Given the description of an element on the screen output the (x, y) to click on. 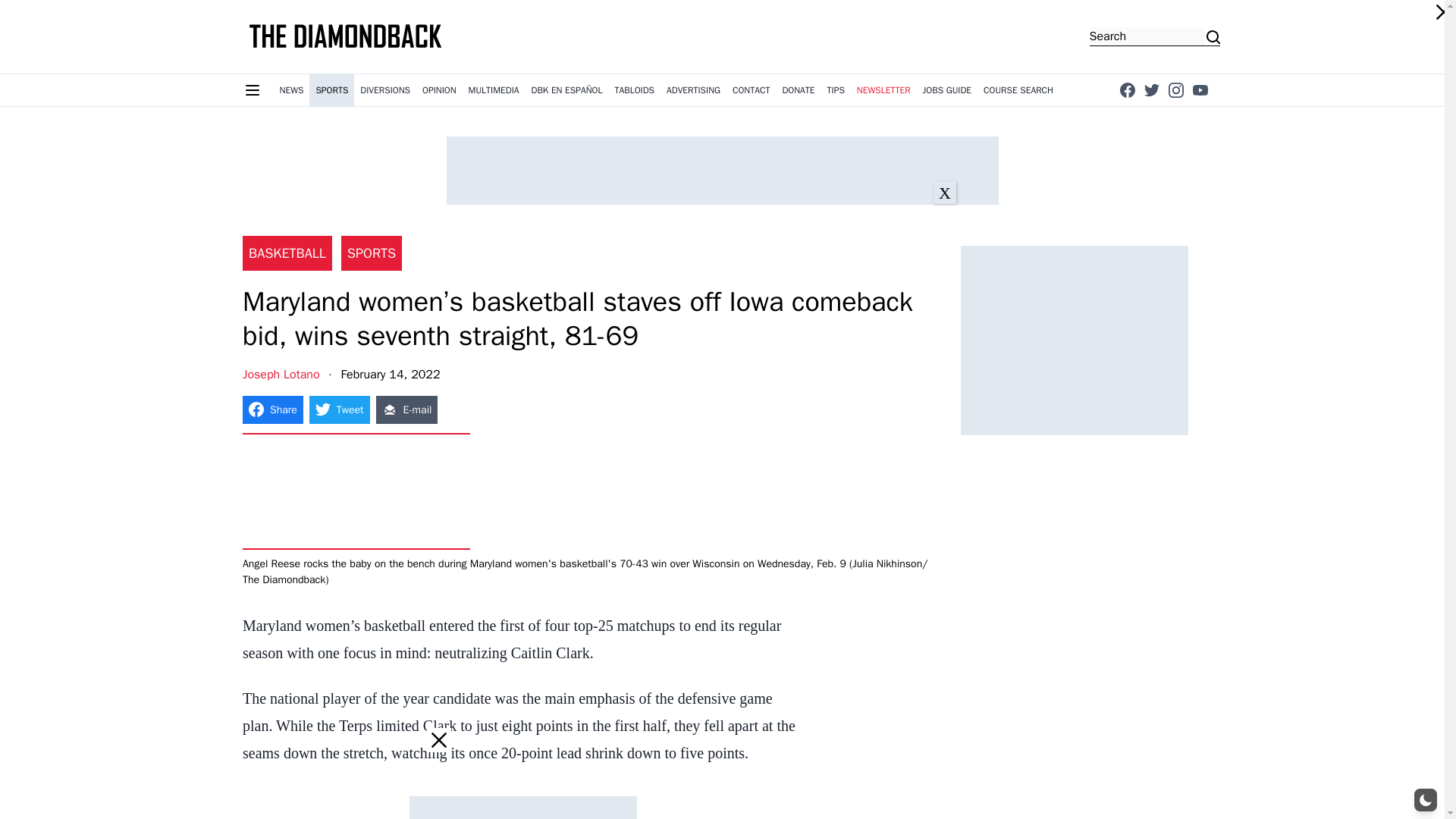
Opinion (439, 90)
COURSE SEARCH (1017, 90)
Donate (798, 90)
NEWS (290, 90)
The Diamondback (345, 36)
Sports (330, 90)
Advertising (693, 90)
Jobs Guide (947, 90)
ADVERTISING (693, 90)
Multimedia (494, 90)
